Given the description of an element on the screen output the (x, y) to click on. 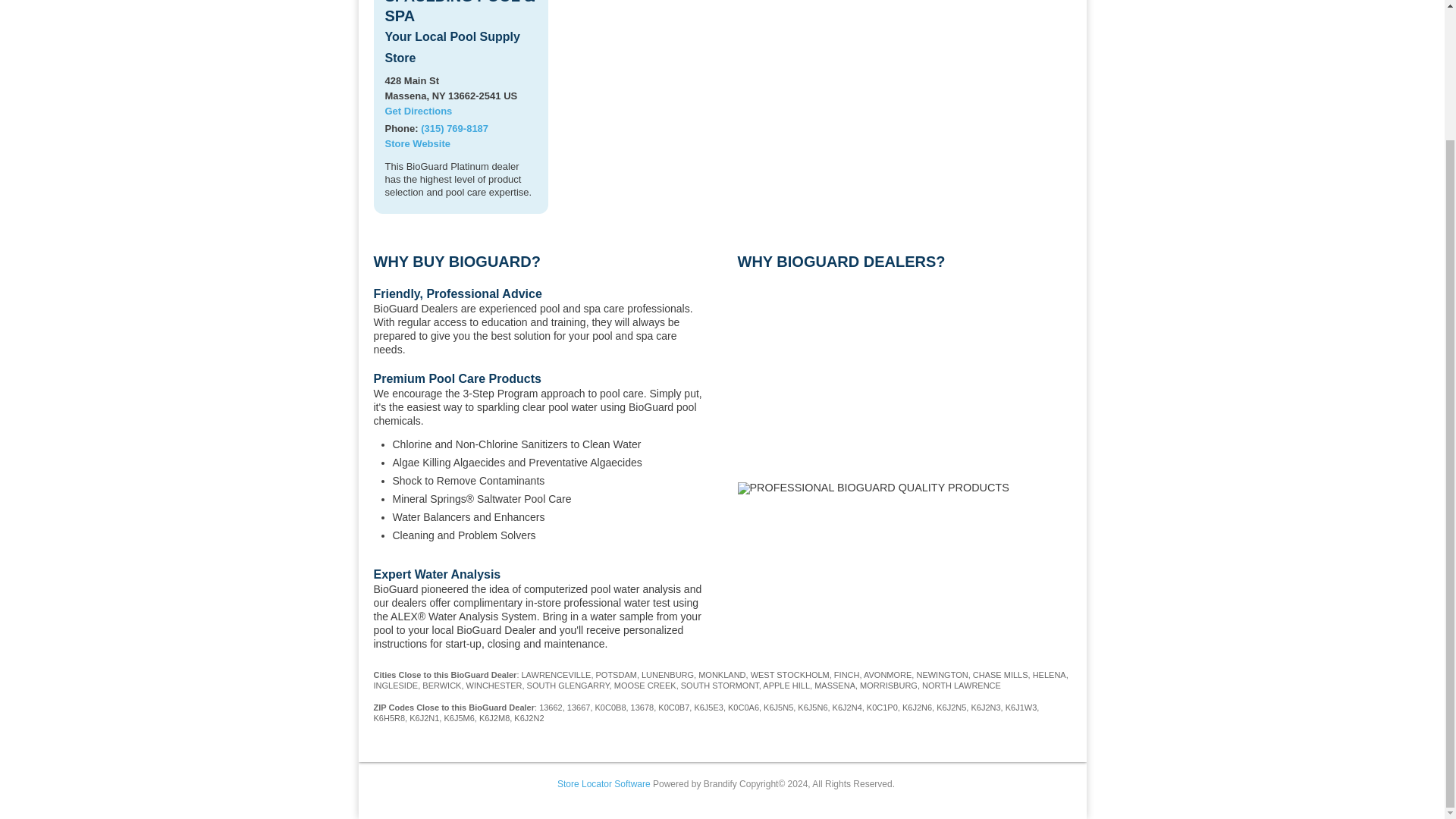
Store Locator Software (603, 783)
Store Website (417, 143)
Get Directions (418, 111)
